Given the description of an element on the screen output the (x, y) to click on. 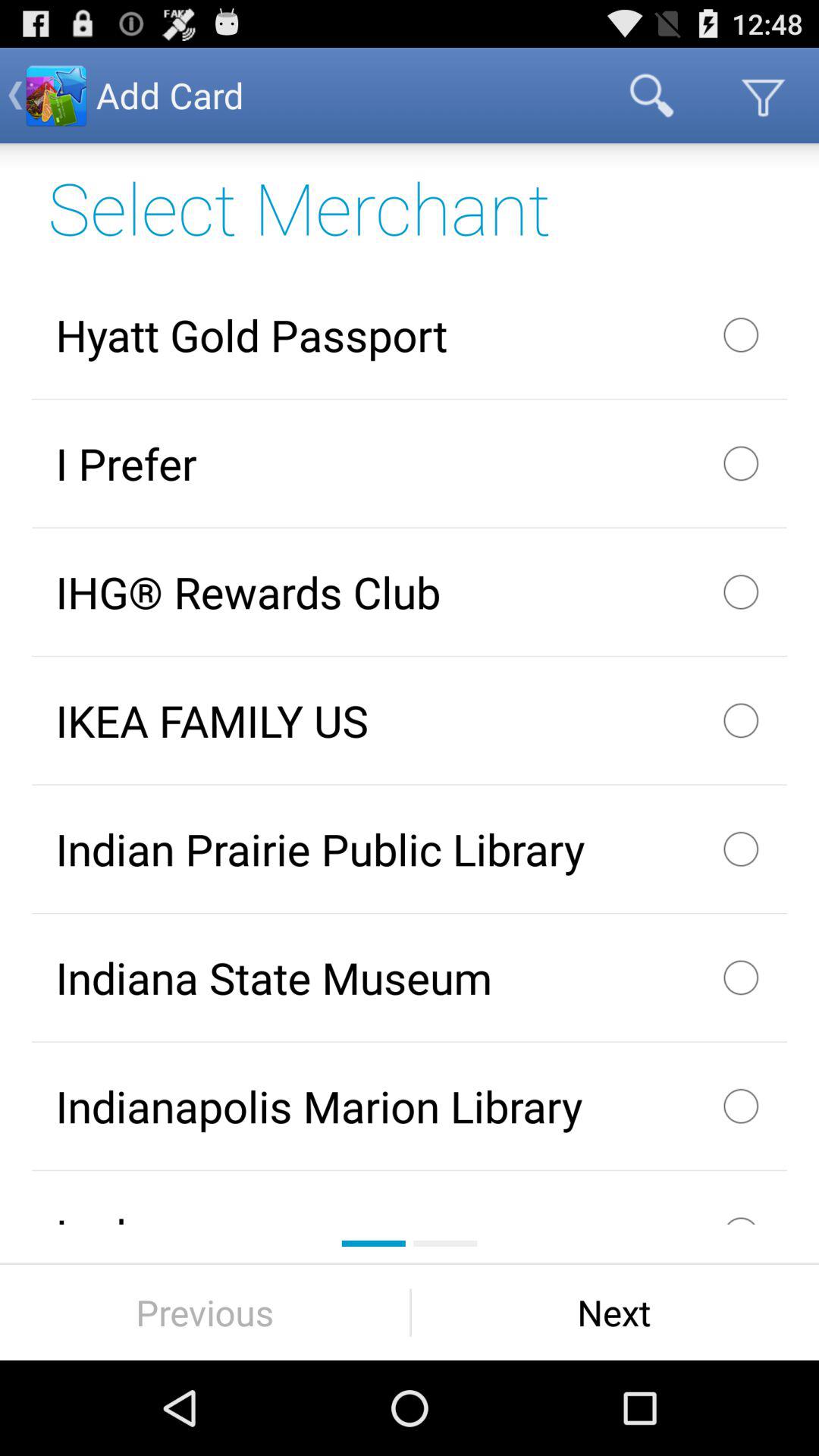
choose the icon below the indian prairie public icon (409, 977)
